Given the description of an element on the screen output the (x, y) to click on. 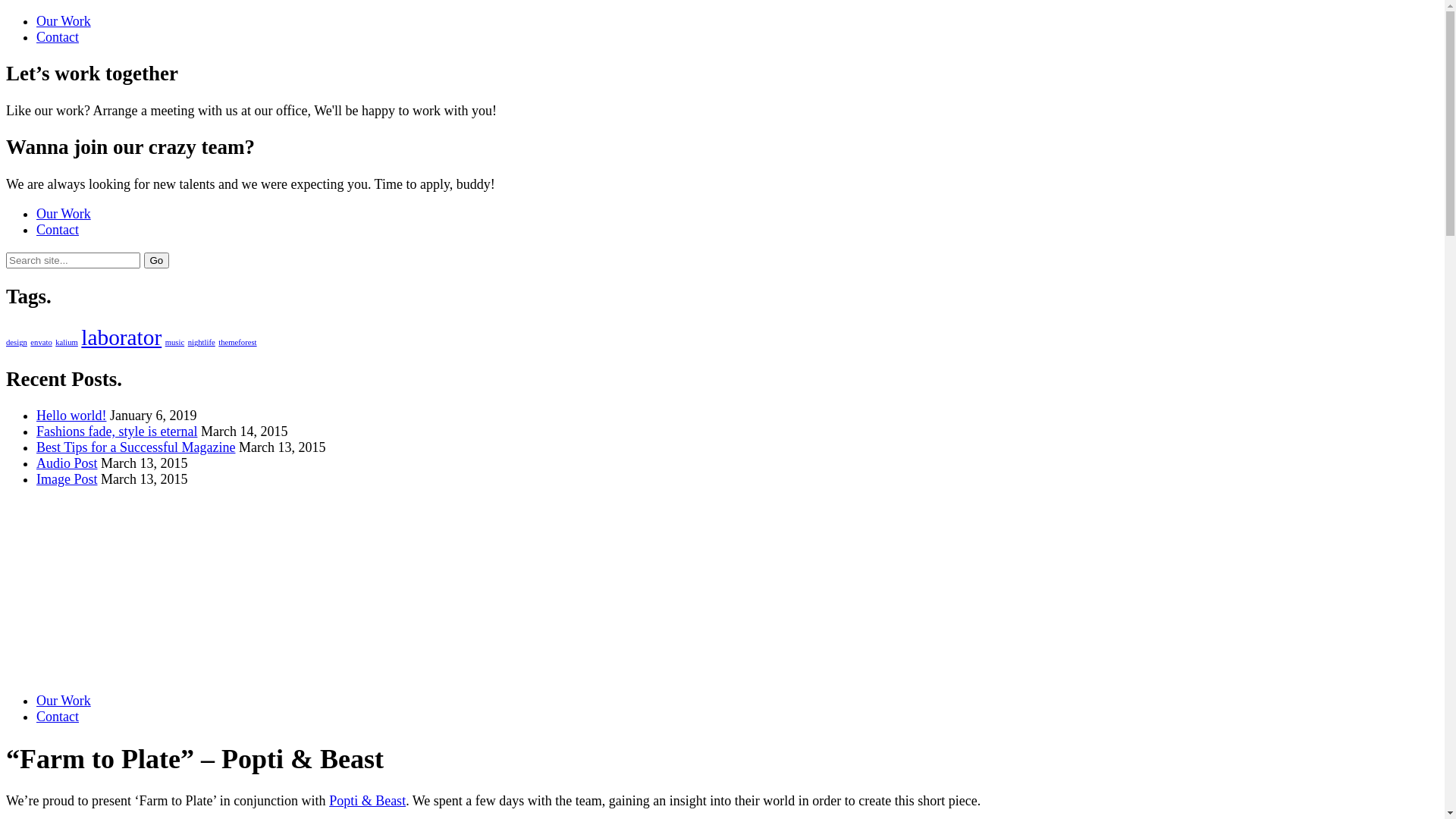
Popti & Beast Element type: text (367, 800)
kalium Element type: text (66, 342)
design Element type: text (16, 342)
laborator Element type: text (121, 337)
envato Element type: text (40, 342)
Go Element type: text (156, 260)
nightlife Element type: text (201, 342)
Hello world! Element type: text (71, 415)
music Element type: text (174, 342)
Best Tips for a Successful Magazine Element type: text (135, 447)
Our Work Element type: text (63, 213)
Fashions fade, style is eternal Element type: text (116, 431)
Contact Element type: text (57, 229)
themeforest Element type: text (237, 342)
Contact Element type: text (57, 36)
Audio Post Element type: text (66, 462)
Search for: Element type: hover (73, 260)
Our Work Element type: text (63, 700)
Contact Element type: text (57, 716)
Image Post Element type: text (66, 478)
Our Work Element type: text (63, 20)
